Given the description of an element on the screen output the (x, y) to click on. 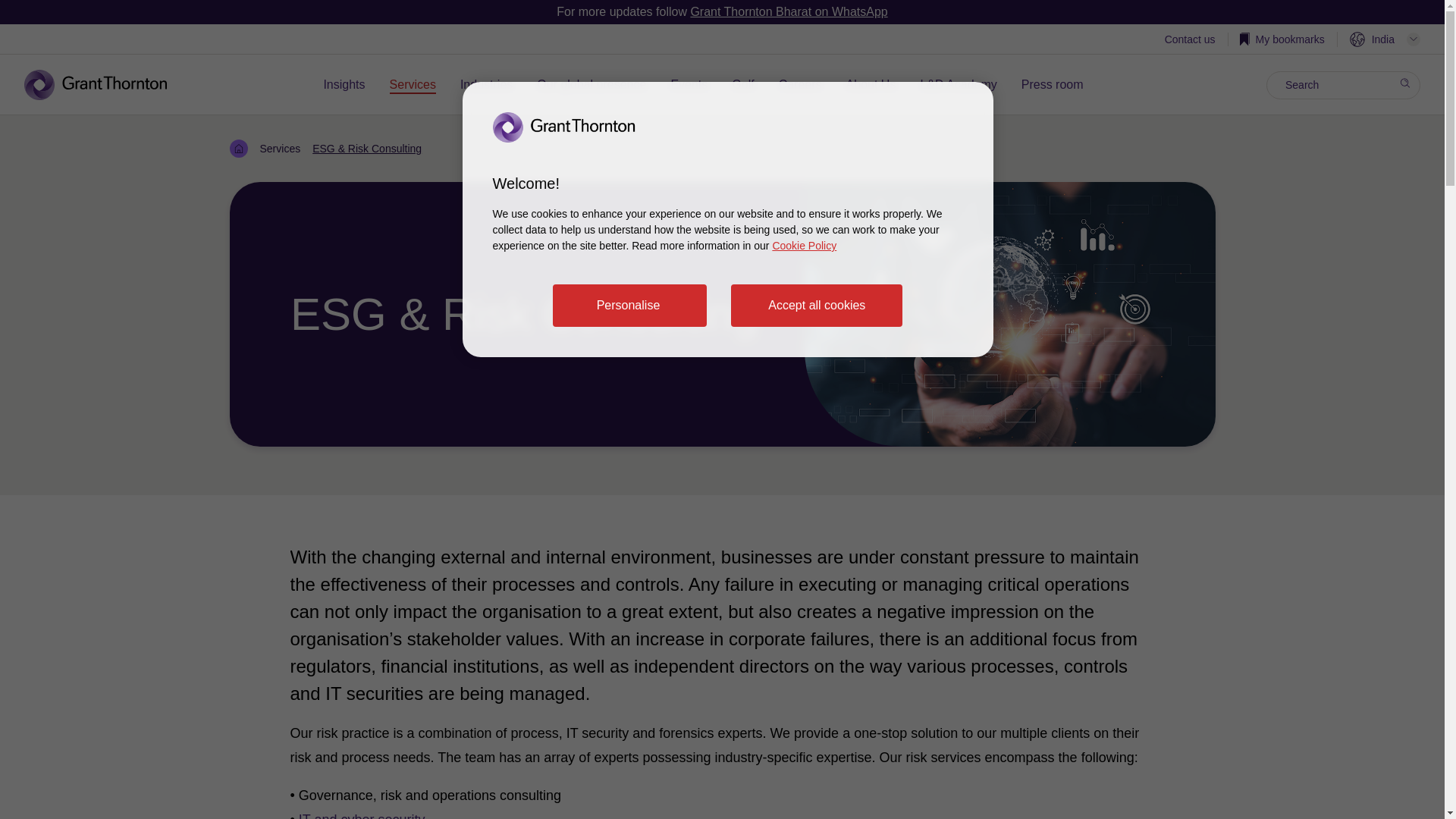
India (1385, 38)
Grant Thornton Bharat on WhatsApp (788, 11)
External link - open a new window (957, 85)
Insights (344, 85)
Explore the Grant Thornton network (1385, 38)
About Us (870, 85)
Events (688, 85)
My bookmarks (1282, 38)
open a new window - Contact us (1189, 41)
Services (412, 85)
